Given the description of an element on the screen output the (x, y) to click on. 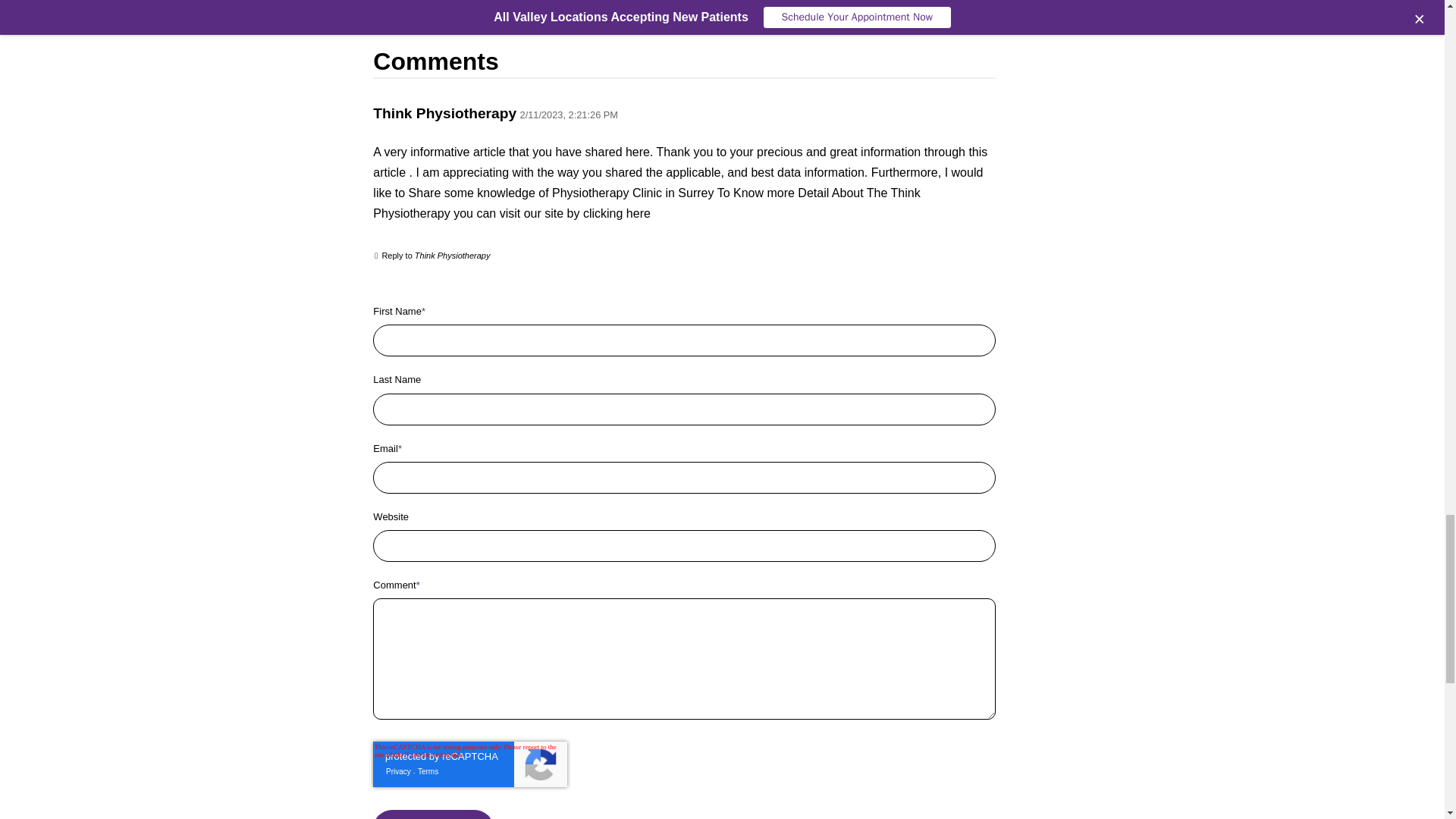
Submit Comment (432, 814)
common running injuries (468, 2)
Reply to Think Physiotherapy (440, 255)
reCAPTCHA (469, 764)
Submit Comment (432, 814)
Think Physiotherapy (444, 113)
